Given the description of an element on the screen output the (x, y) to click on. 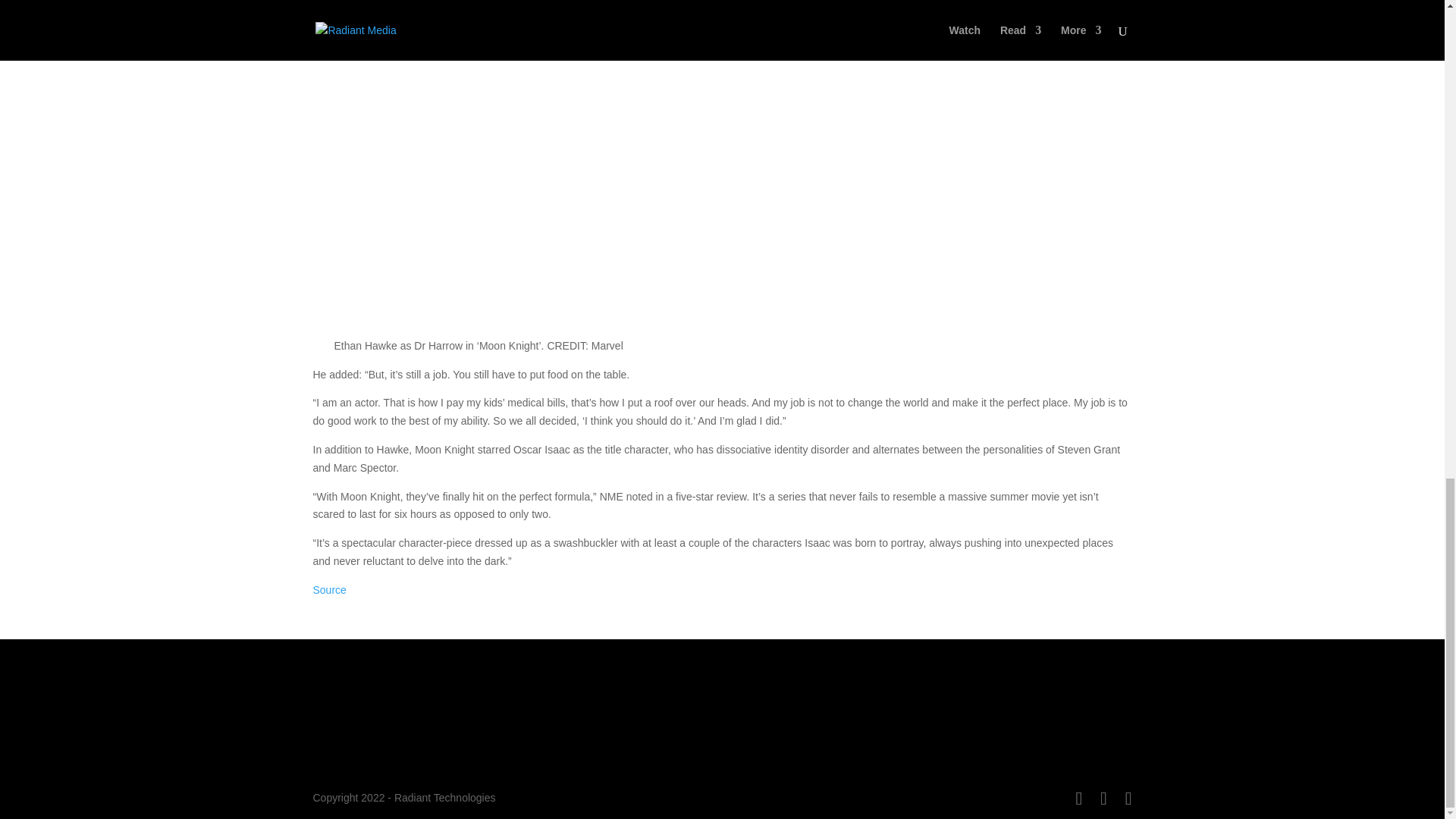
Source (329, 589)
